Given the description of an element on the screen output the (x, y) to click on. 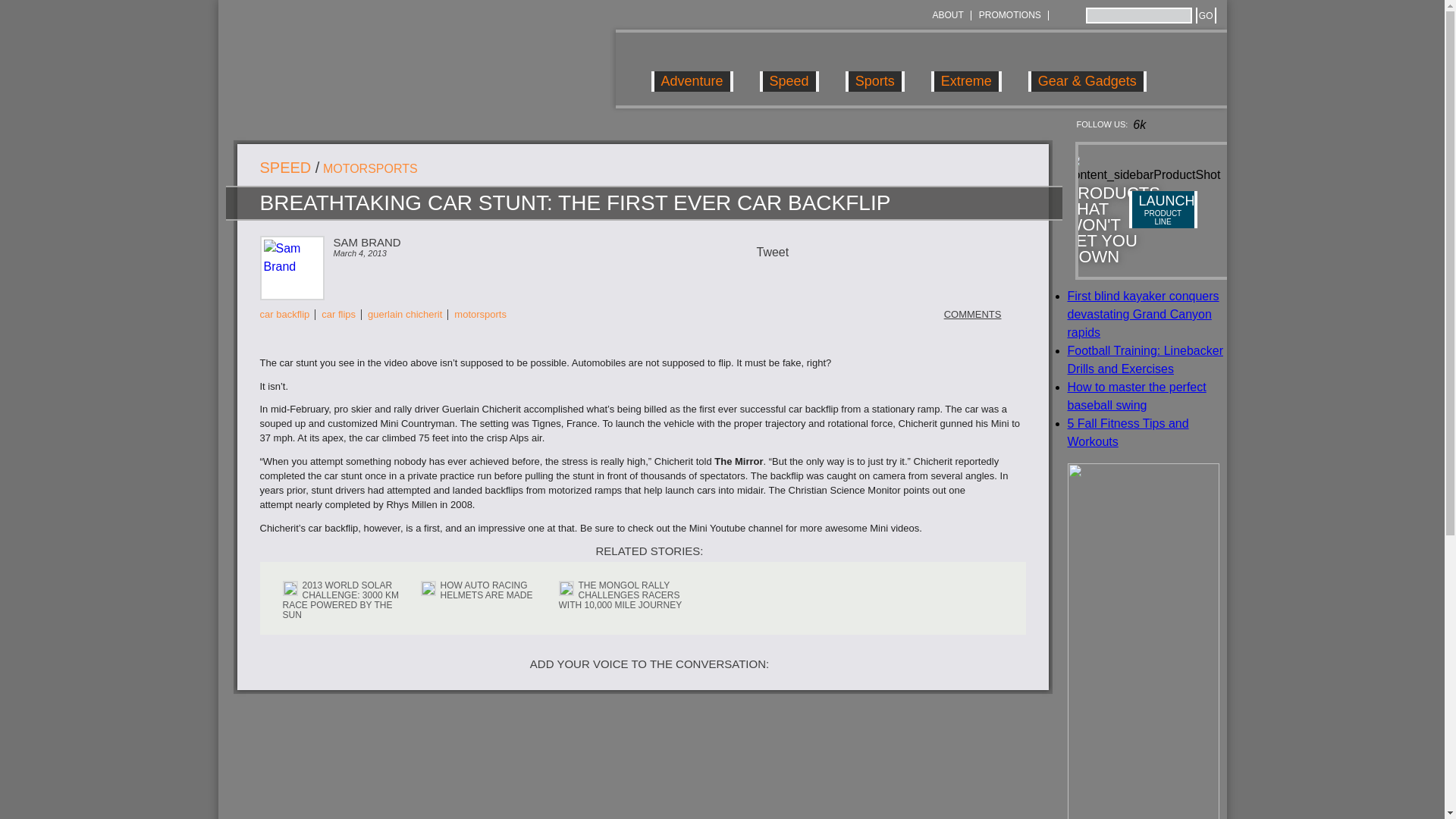
Adventure (691, 68)
Sports (874, 68)
The Adrenalist (383, 68)
PROMOTIONS (1009, 14)
Go (1205, 15)
Go (1205, 15)
ABOUT (946, 14)
Search Site (1139, 15)
About (946, 14)
Adventure (691, 68)
The Adrenalist (383, 68)
RSS Feed (1062, 15)
Speed (789, 68)
RSS FEED (1062, 15)
Promotions (1009, 14)
